Given the description of an element on the screen output the (x, y) to click on. 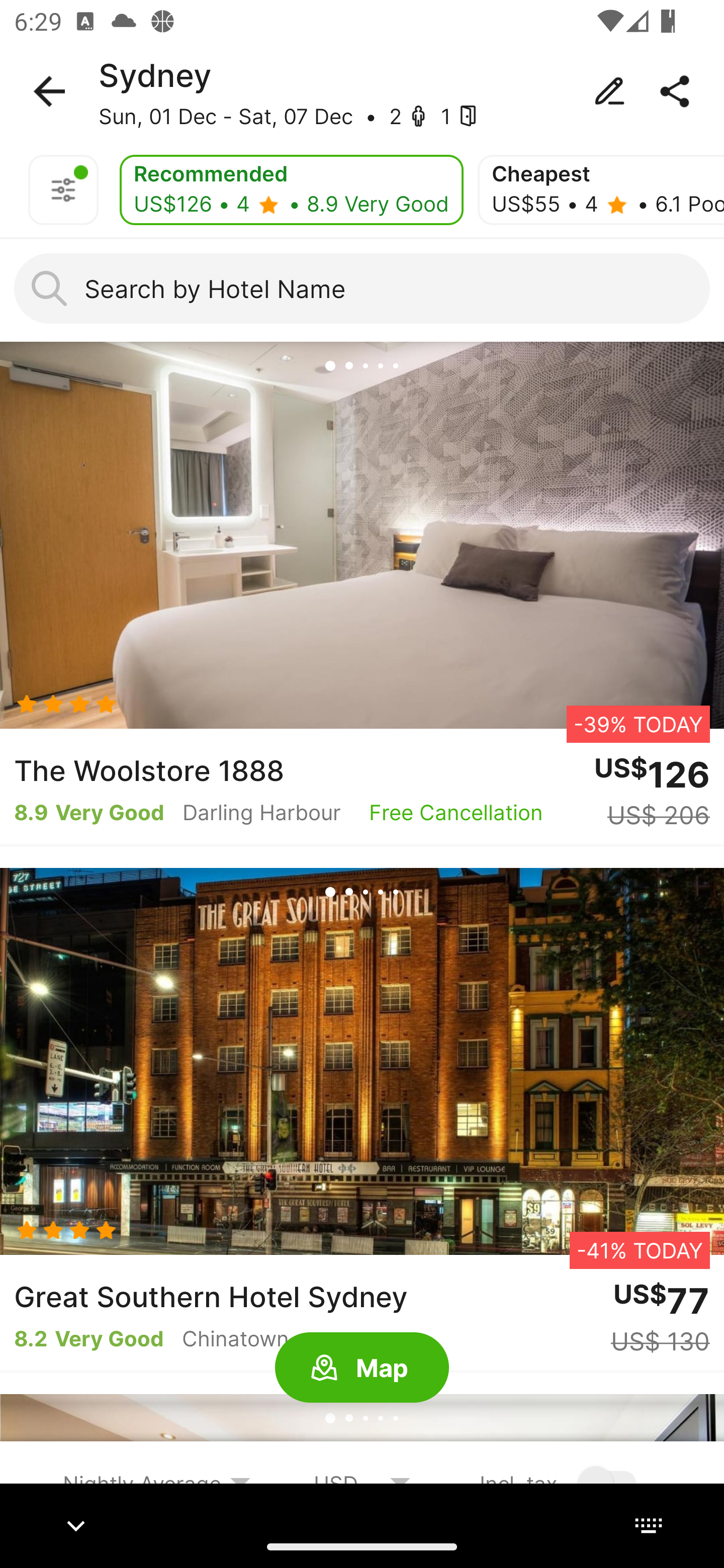
Sydney Sun, 01 Dec - Sat, 07 Dec  •  2 -  1 - (361, 91)
Recommended  US$126  • 4 - • 8.9 Very Good (291, 190)
Cheapest US$55  • 4 - • 6.1 Poor (600, 190)
Search by Hotel Name  (361, 288)
Map  (361, 1367)
